Given the description of an element on the screen output the (x, y) to click on. 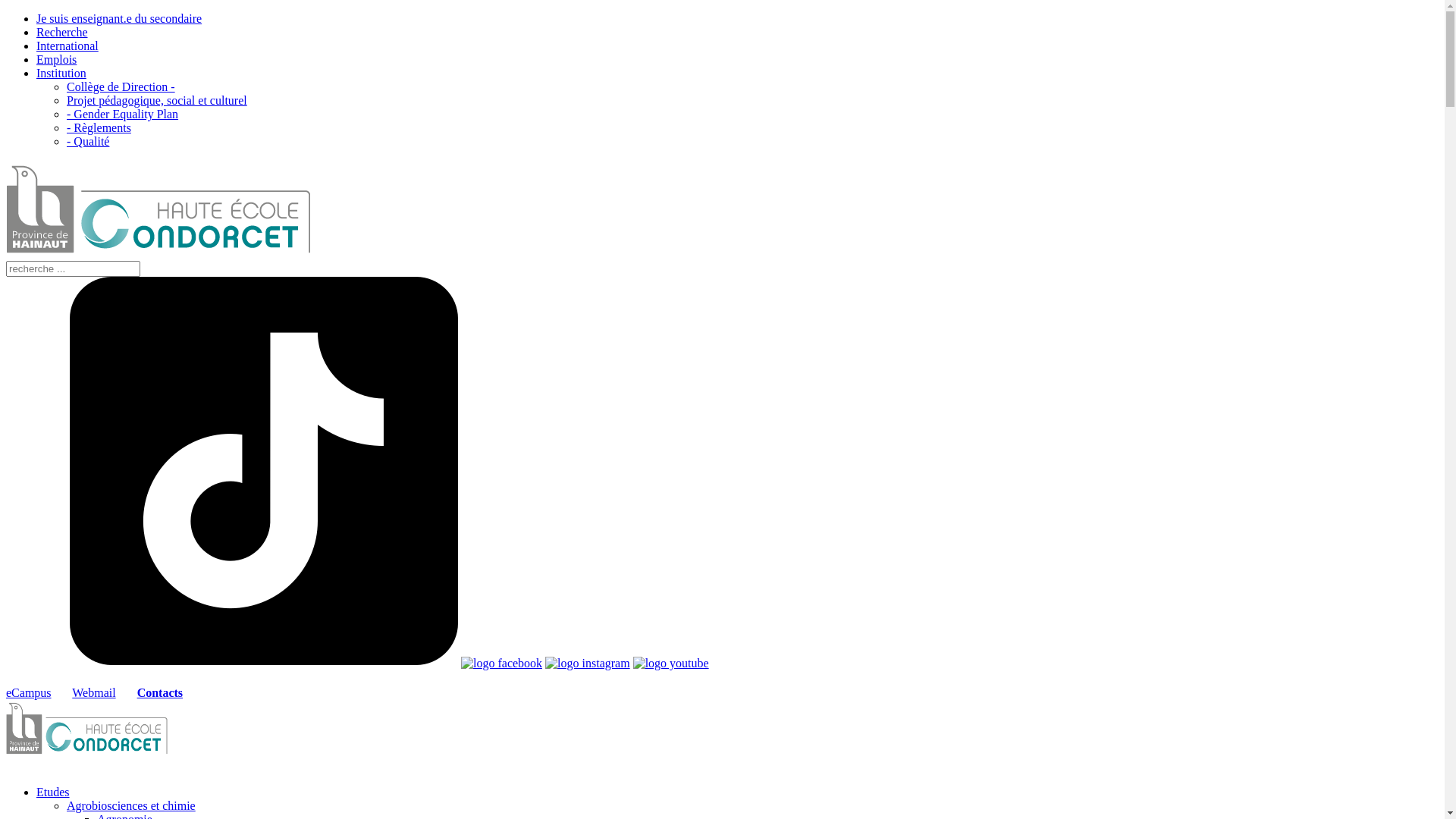
Recherche Element type: text (61, 31)
Je suis enseignant.e du secondaire Element type: text (118, 18)
Agrobiosciences et chimie Element type: text (130, 805)
Emplois Element type: text (56, 59)
eCampus Element type: text (28, 692)
Webmail Element type: text (93, 692)
Institution Element type: text (61, 72)
Contacts Element type: text (159, 692)
Etudes Element type: text (52, 791)
- Gender Equality Plan Element type: text (122, 113)
International Element type: text (67, 45)
